Given the description of an element on the screen output the (x, y) to click on. 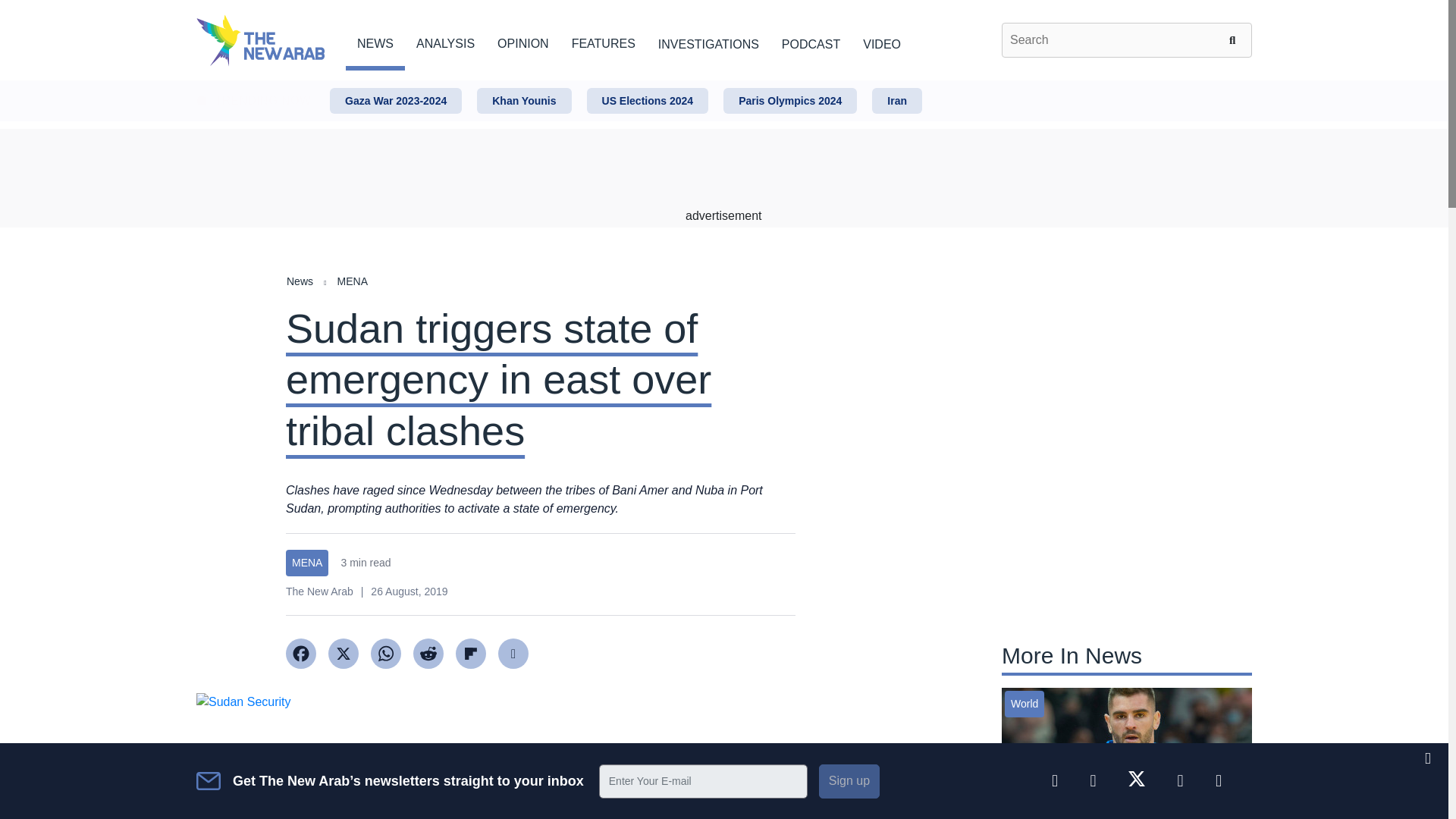
Search (1234, 39)
NEWS (375, 41)
ANALYSIS (445, 41)
OPINION (523, 41)
Skip to main content (724, 81)
